Given the description of an element on the screen output the (x, y) to click on. 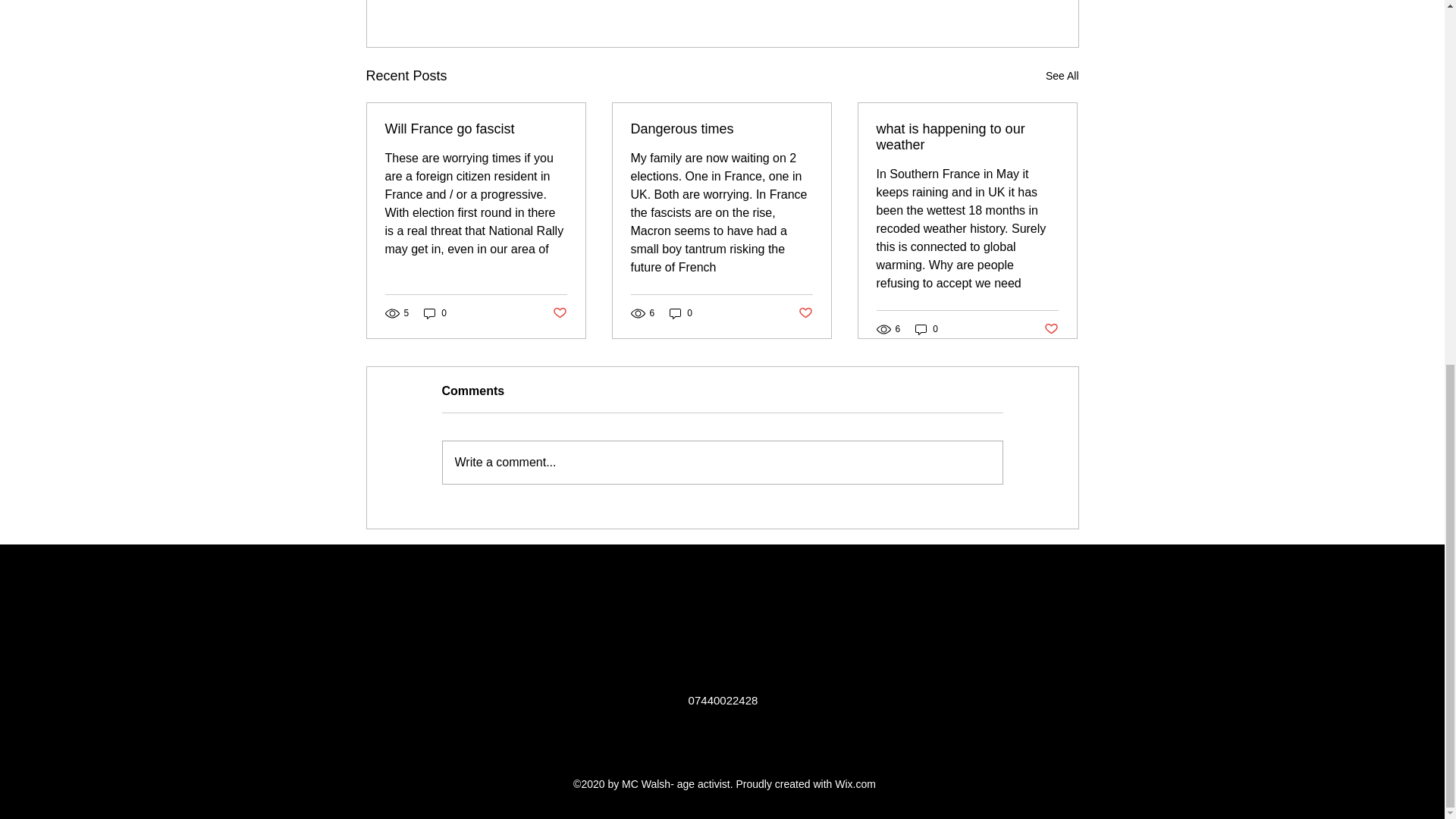
0 (681, 313)
Dangerous times (721, 129)
0 (435, 313)
what is happening to our weather (967, 137)
0 (926, 329)
Will France go fascist (476, 129)
Post not marked as liked (1050, 329)
Post not marked as liked (558, 313)
Post not marked as liked (804, 313)
Write a comment... (722, 462)
See All (1061, 75)
